Given the description of an element on the screen output the (x, y) to click on. 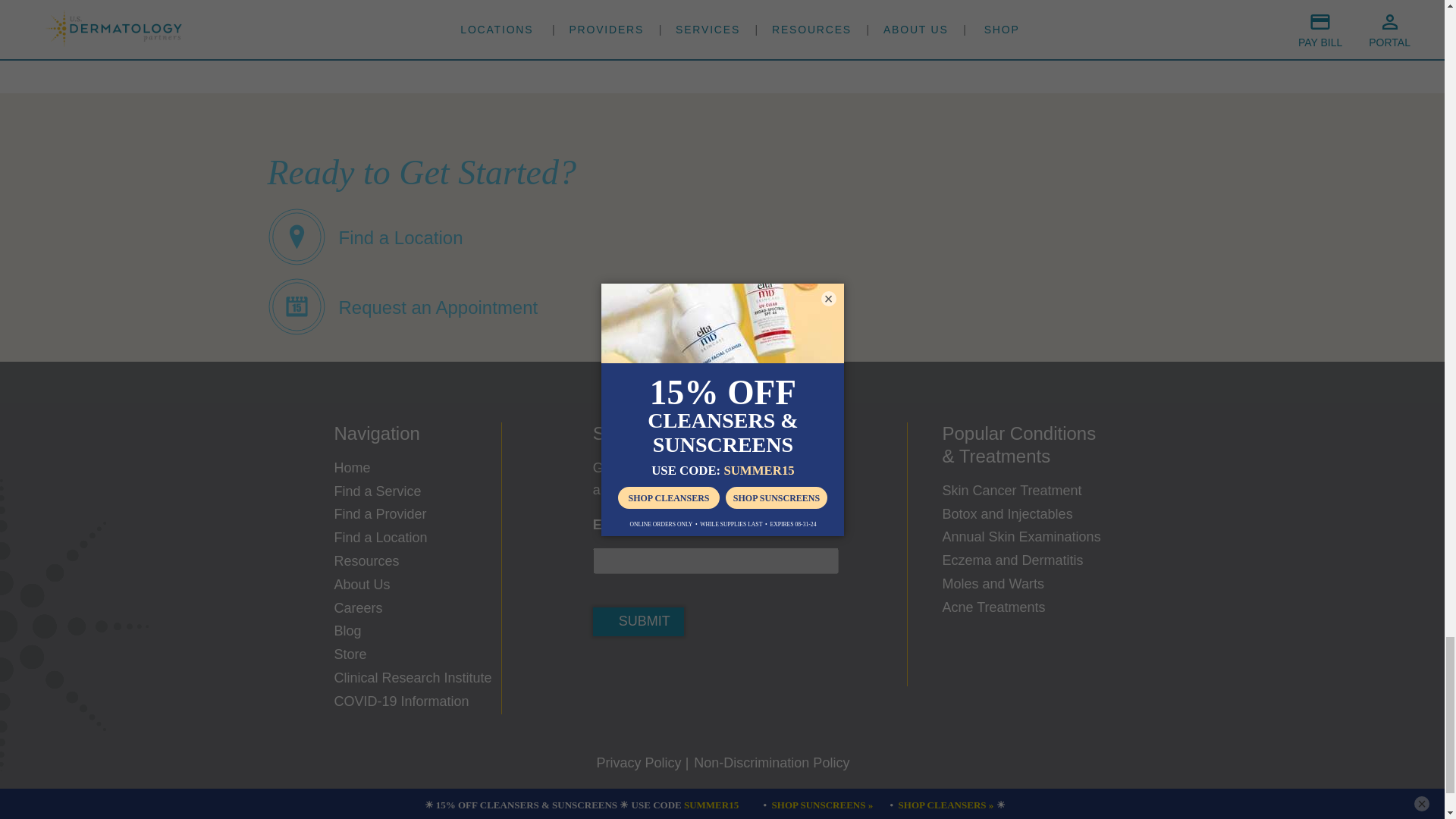
Find a Location (364, 235)
Follow us on Instagram (700, 671)
Request an Appointment (401, 305)
Follow us on Twitter (655, 671)
Submit (638, 621)
Follow us on YouTube (745, 671)
Follow us on Facebook (609, 671)
Megan Lent, MD, FAAD (316, 14)
